Given the description of an element on the screen output the (x, y) to click on. 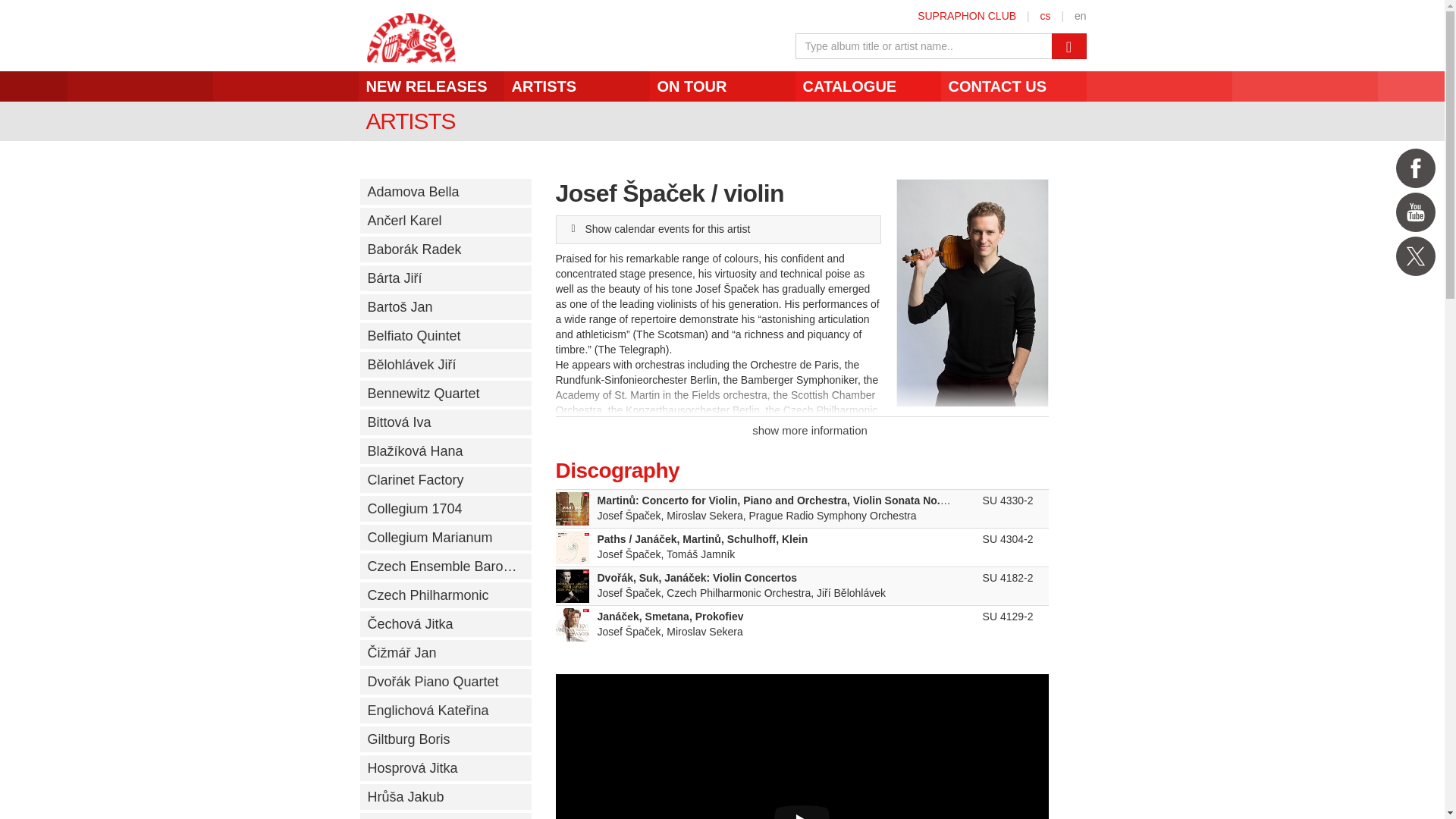
Clarinet Factory (445, 479)
CATALOGUE (867, 105)
NEW RELEASES (430, 105)
CONTACT US (1013, 105)
ON TOUR (721, 105)
Czech Ensemble Baroque (445, 566)
Youtube Supraphon (1415, 211)
ARTISTS (576, 105)
Collegium 1704 (445, 508)
SUPRAPHON CLUB (966, 15)
Collegium Marianum (445, 537)
Czech Philharmonic (445, 595)
Facebook Supraphon Classics (1415, 168)
Belfiato Quintet (445, 335)
Bennewitz Quartet (445, 393)
